Given the description of an element on the screen output the (x, y) to click on. 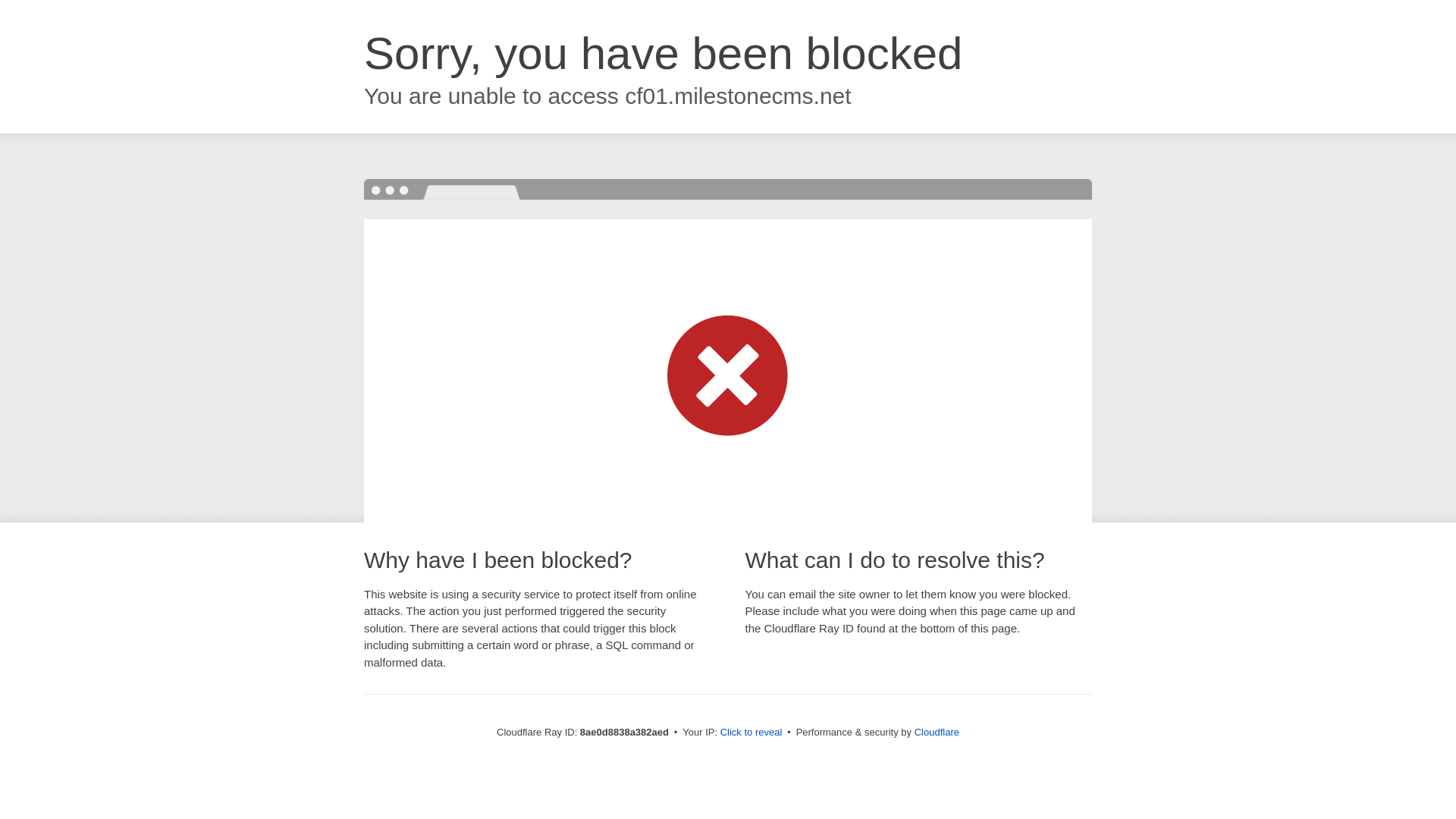
Cloudflare (936, 731)
Click to reveal (751, 732)
